Given the description of an element on the screen output the (x, y) to click on. 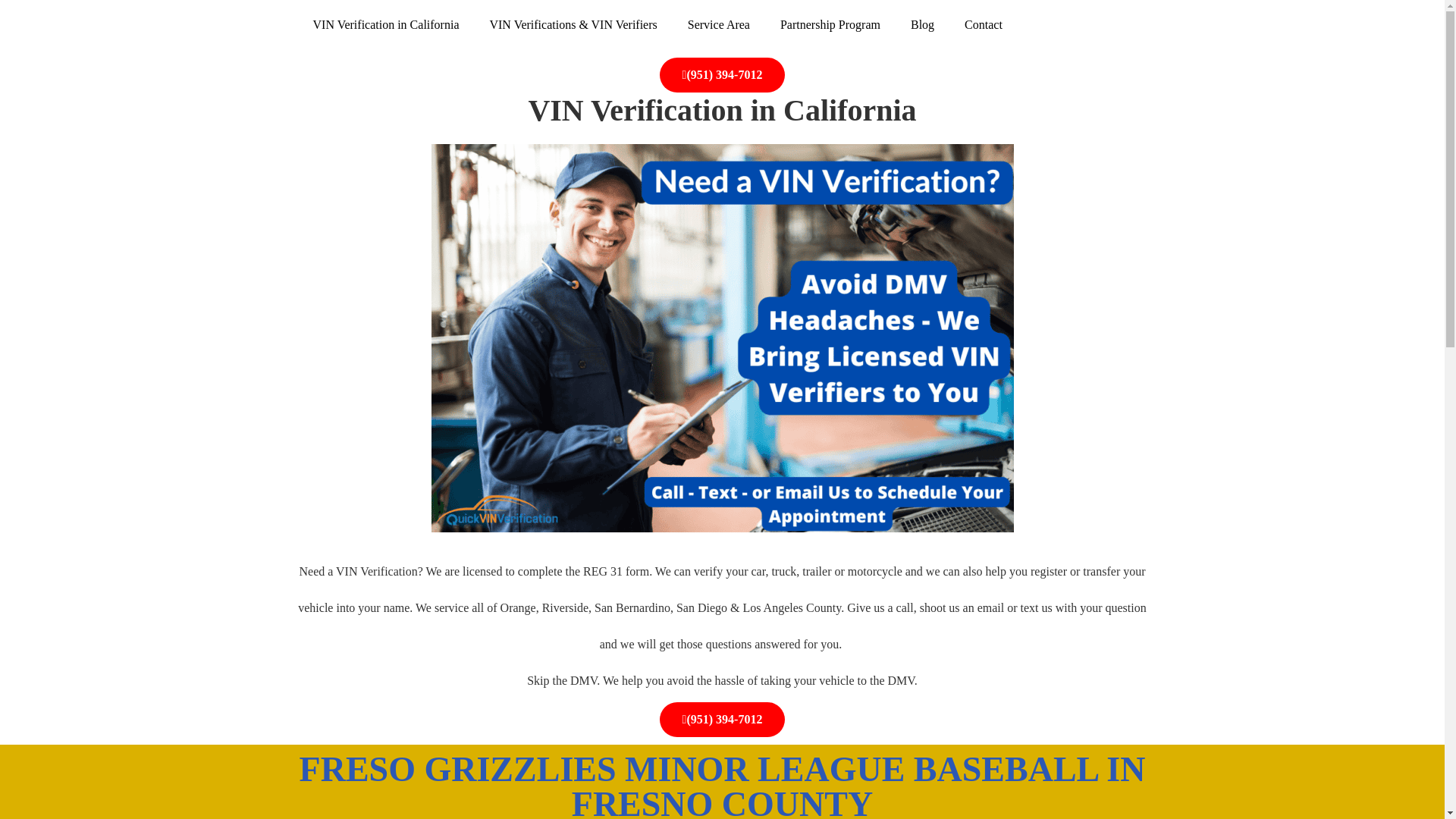
Service Area (718, 24)
Contact (983, 24)
VIN Verification in California (385, 24)
Blog (922, 24)
Partnership Program (830, 24)
